Given the description of an element on the screen output the (x, y) to click on. 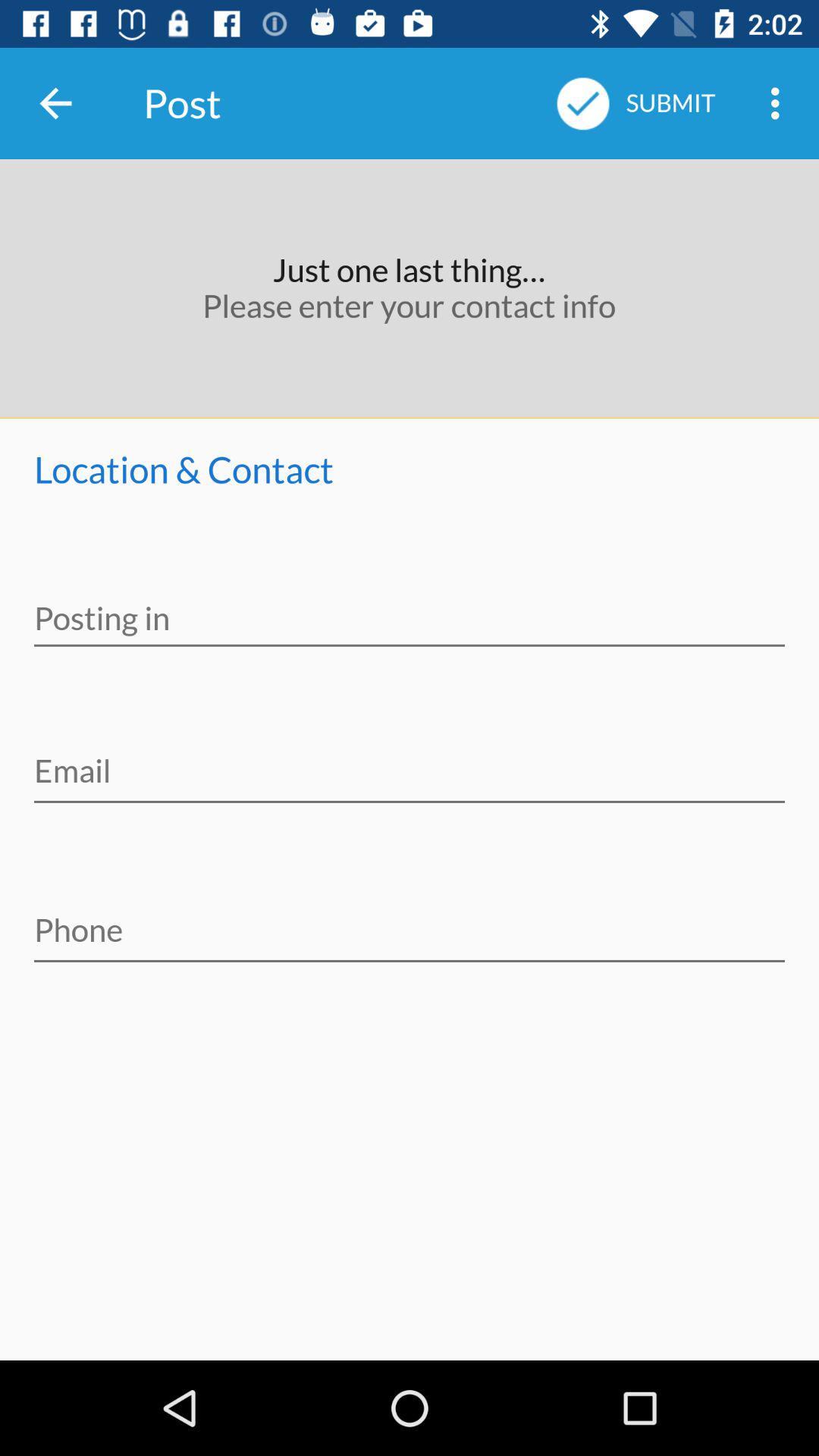
enter email in text box (409, 760)
